Given the description of an element on the screen output the (x, y) to click on. 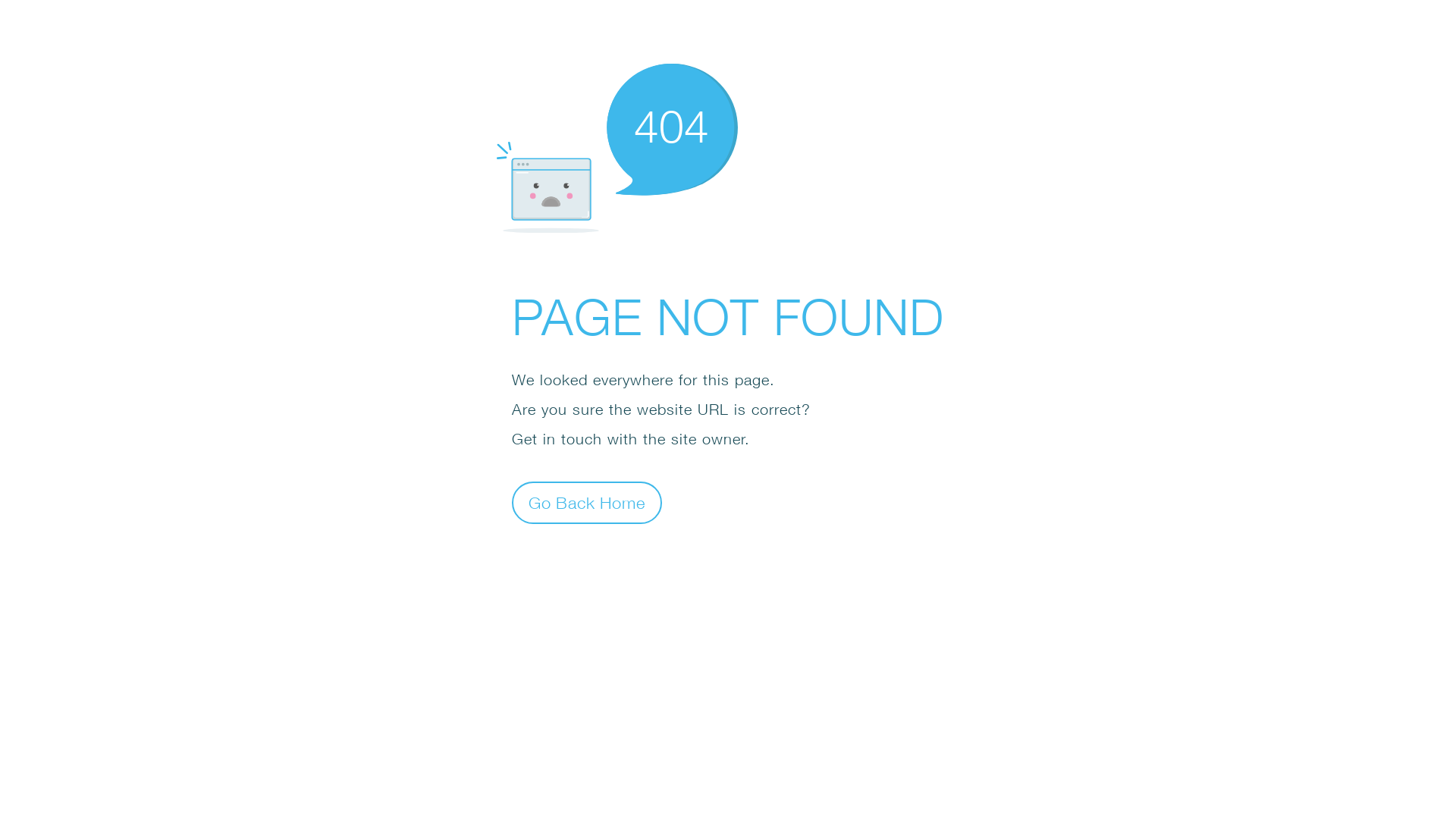
Go Back Home Element type: text (586, 502)
